Given the description of an element on the screen output the (x, y) to click on. 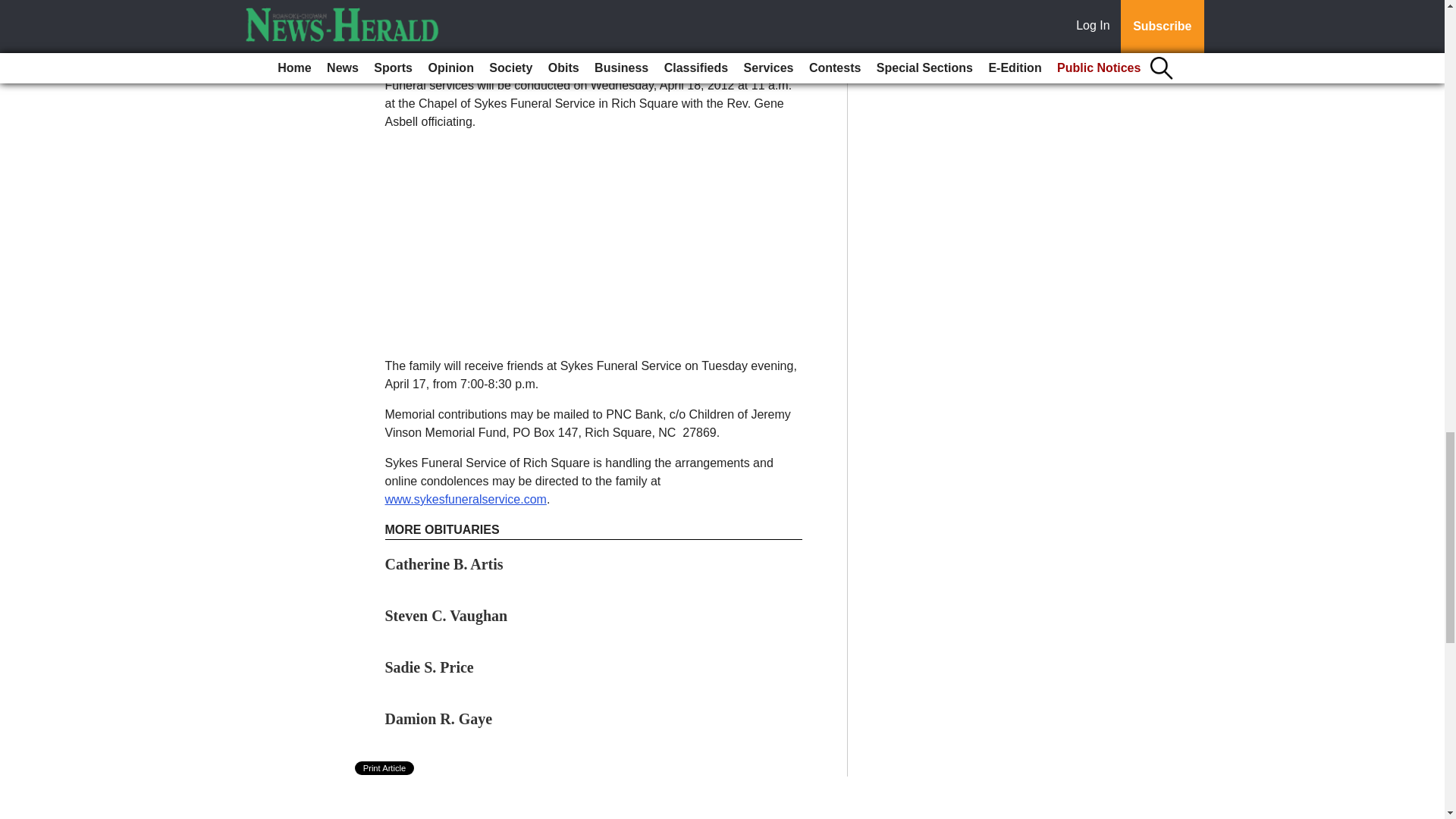
Print Article (384, 767)
Damion R. Gaye (439, 718)
www.sykesfuneralservice.com (466, 499)
Steven C. Vaughan (446, 615)
Damion R. Gaye (439, 718)
Catherine B. Artis (444, 564)
Sadie S. Price (429, 667)
Catherine B. Artis (444, 564)
Steven C. Vaughan (446, 615)
Sadie S. Price (429, 667)
